Given the description of an element on the screen output the (x, y) to click on. 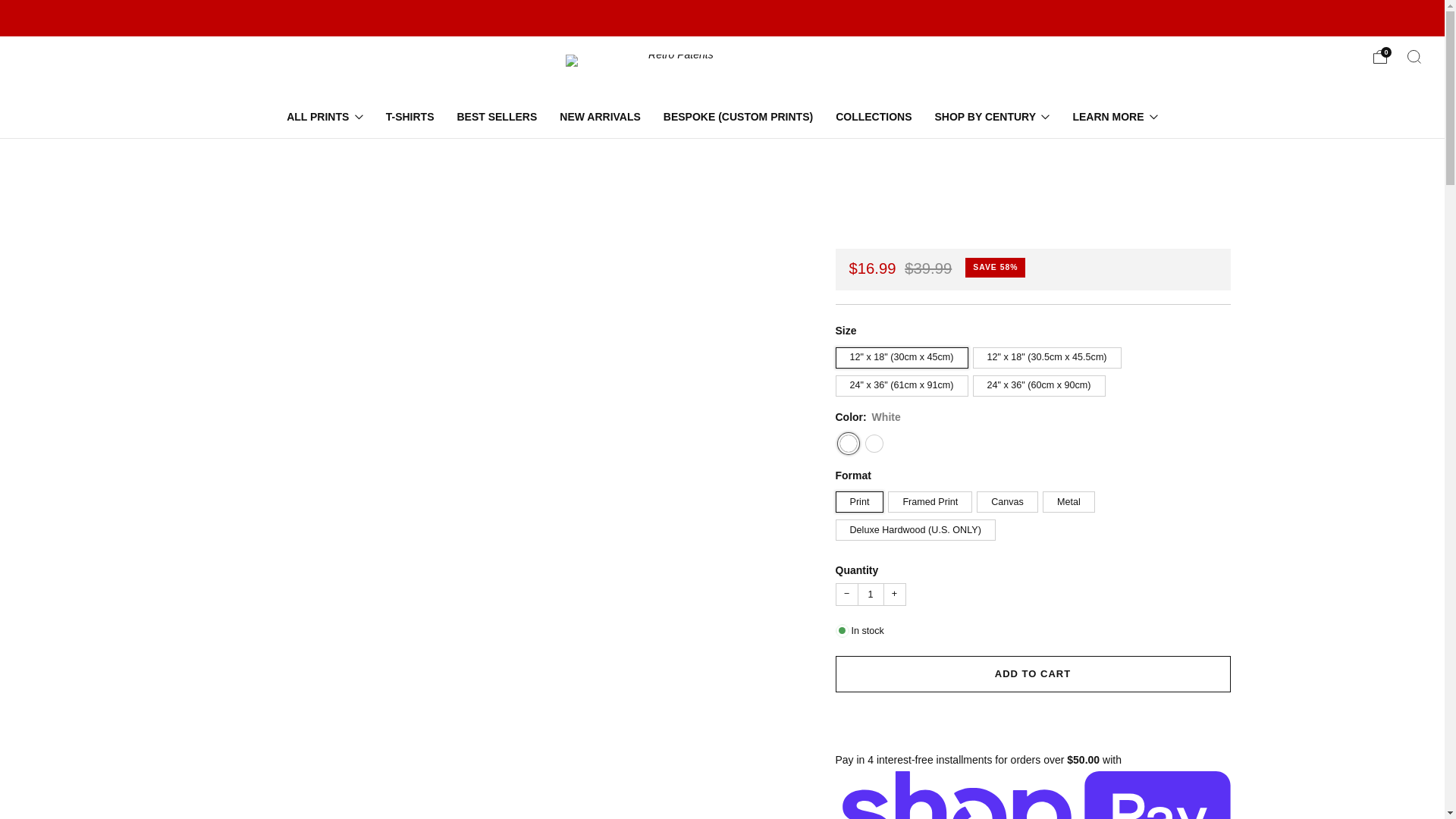
Canvas (1009, 498)
ALL PRINTS (324, 116)
Metal (1070, 498)
Framed Print (932, 498)
1 (870, 594)
